Given the description of an element on the screen output the (x, y) to click on. 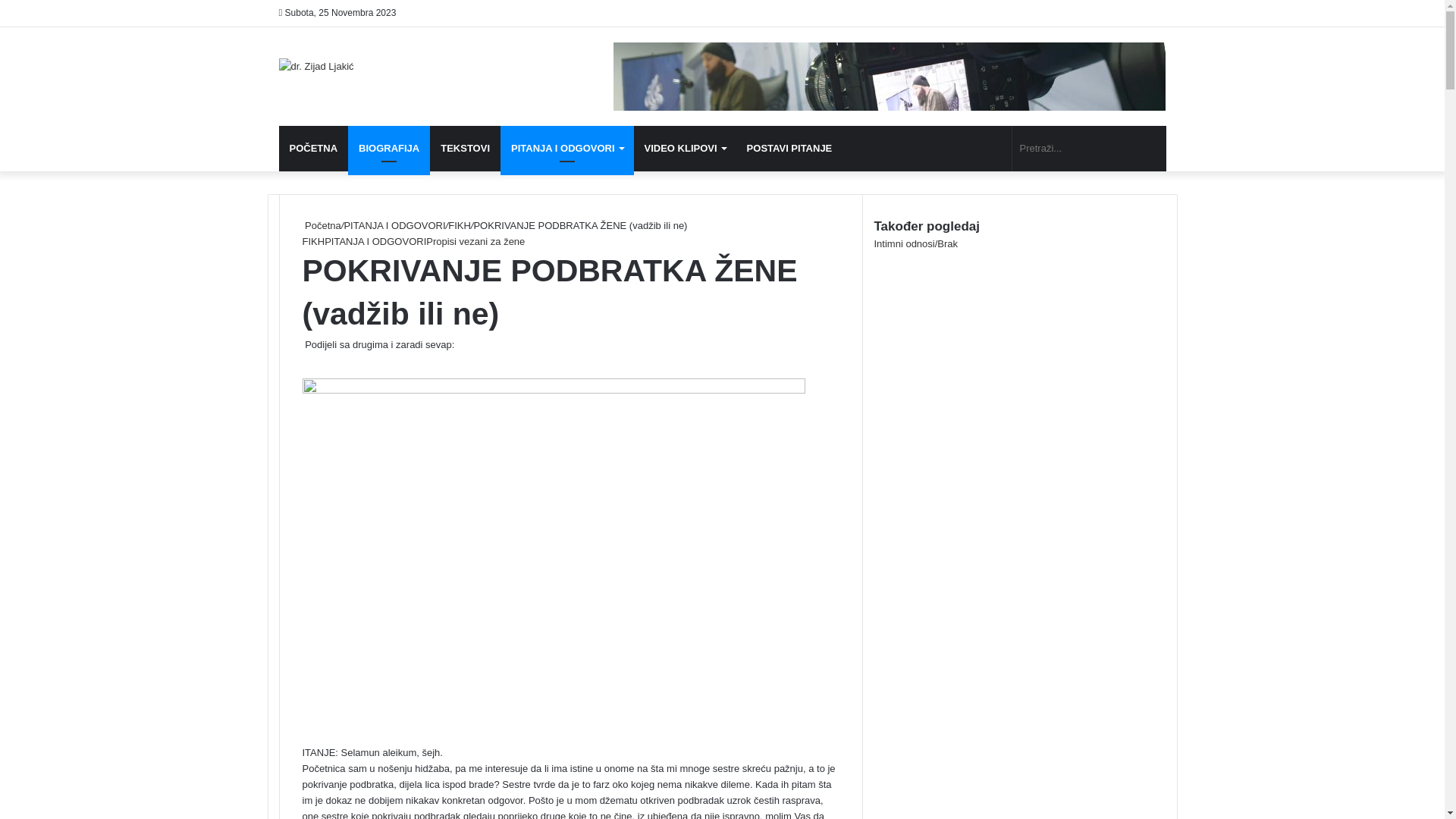
Switch skin Element type: text (992, 148)
FIKH Element type: text (312, 241)
YouTube Element type: text (924, 148)
Viber Element type: text (330, 360)
Messenger Element type: text (322, 360)
BIOGRAFIJA Element type: text (388, 148)
VIDEO KLIPOVI Element type: text (684, 148)
Reddit Element type: text (317, 360)
Facebook Element type: text (302, 360)
POSTAVI PITANJE Element type: text (789, 148)
Tumblr Element type: text (311, 360)
Telegram Element type: text (327, 360)
Facebook Element type: text (901, 148)
LinkedIn Element type: text (308, 360)
TEKSTOVI Element type: text (464, 148)
Pinterest Element type: text (314, 360)
Twitter Element type: text (305, 360)
FIKH Element type: text (459, 225)
WhatsApp Element type: text (325, 360)
Messenger Element type: text (319, 360)
PITANJA I ODGOVORI Element type: text (375, 241)
Telegram Element type: text (946, 148)
PITANJA I ODGOVORI Element type: text (566, 148)
PITANJA I ODGOVORI Element type: text (394, 225)
